Given the description of an element on the screen output the (x, y) to click on. 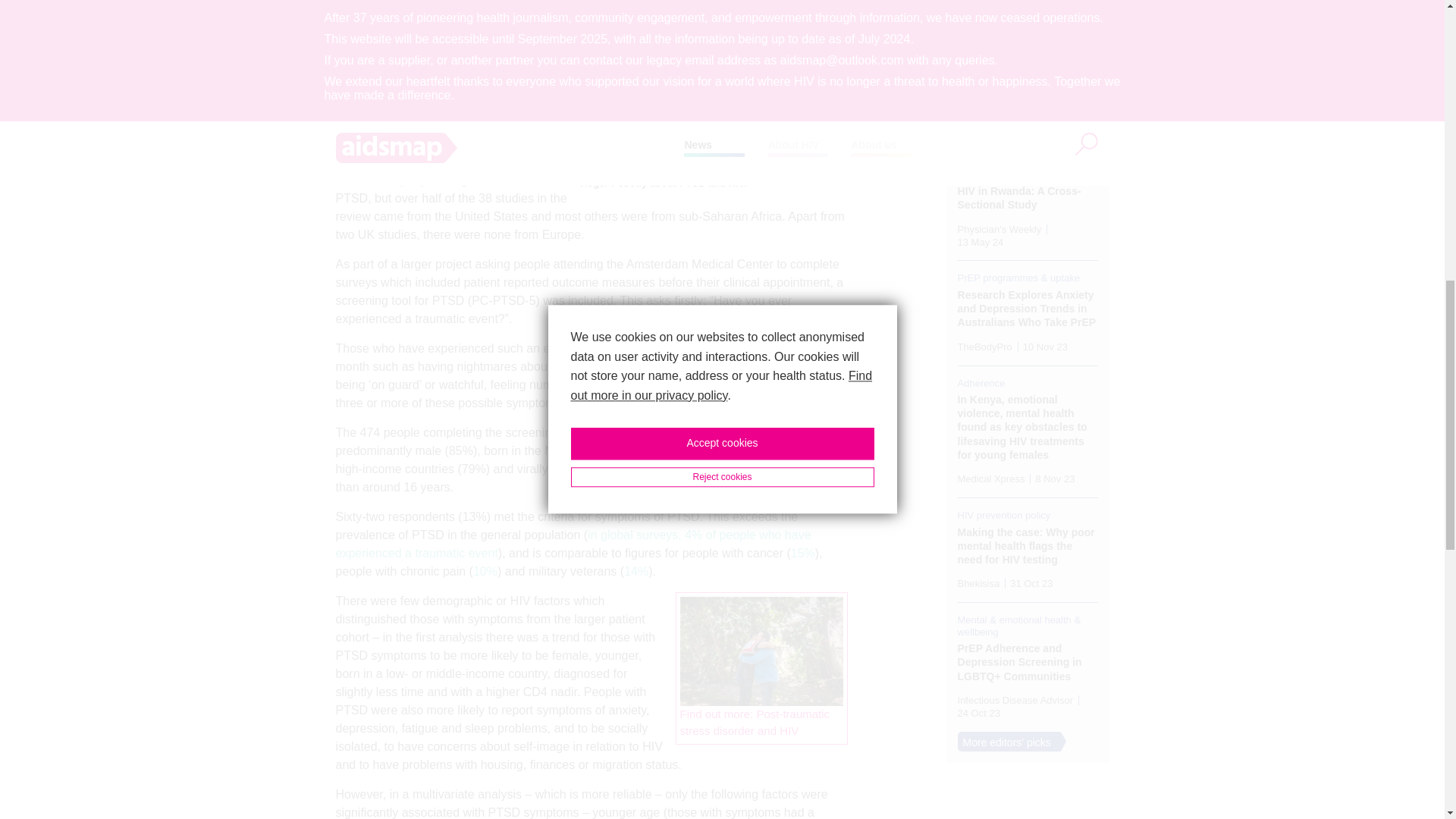
Find out more: Post-traumatic stress disorder and HIV (754, 722)
More news from Netherlands (764, 433)
A previous systematic review (412, 161)
